Given the description of an element on the screen output the (x, y) to click on. 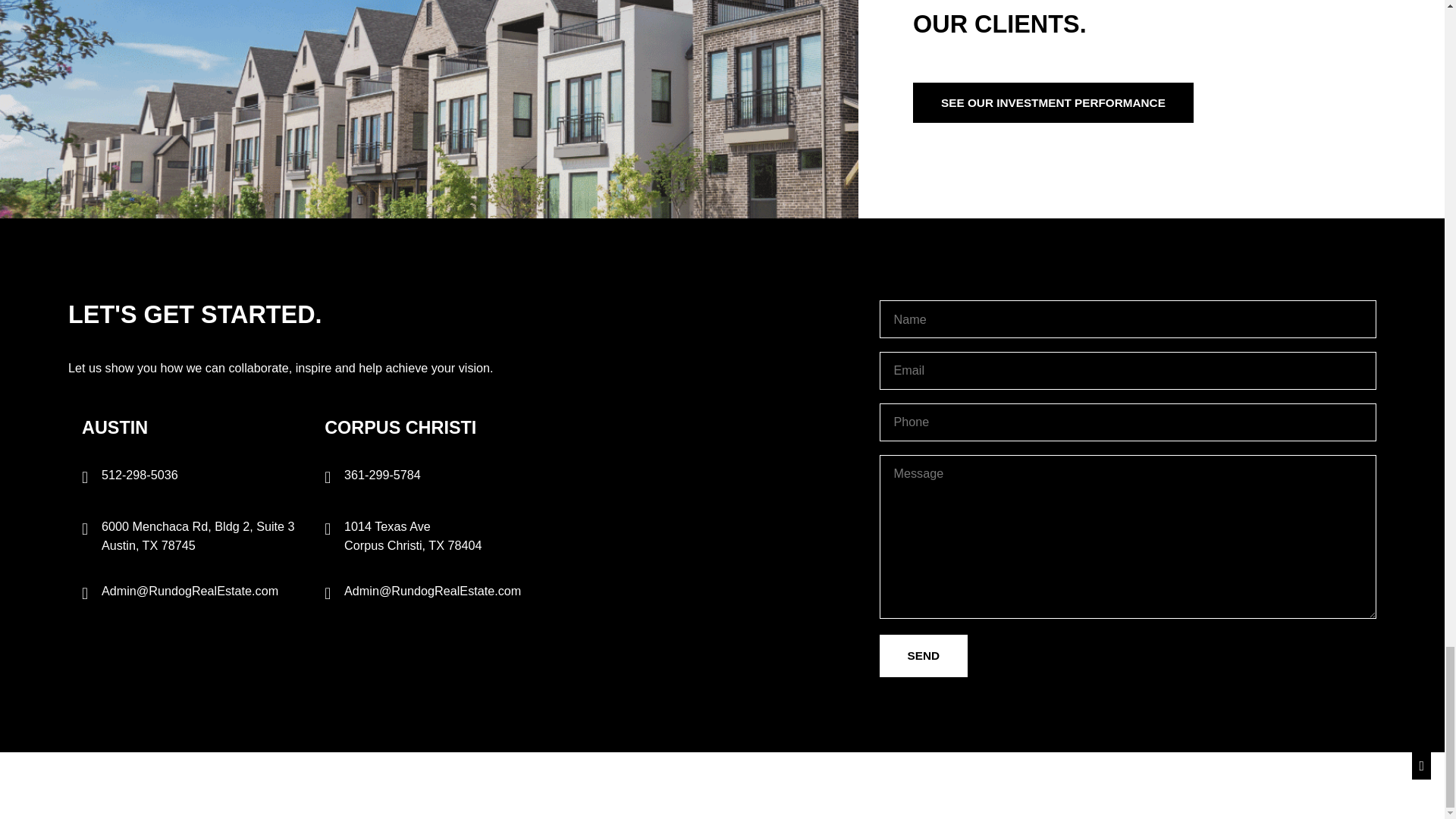
Send (923, 655)
SEE OUR INVESTMENT PERFORMANCE (1052, 102)
Send (923, 655)
